Given the description of an element on the screen output the (x, y) to click on. 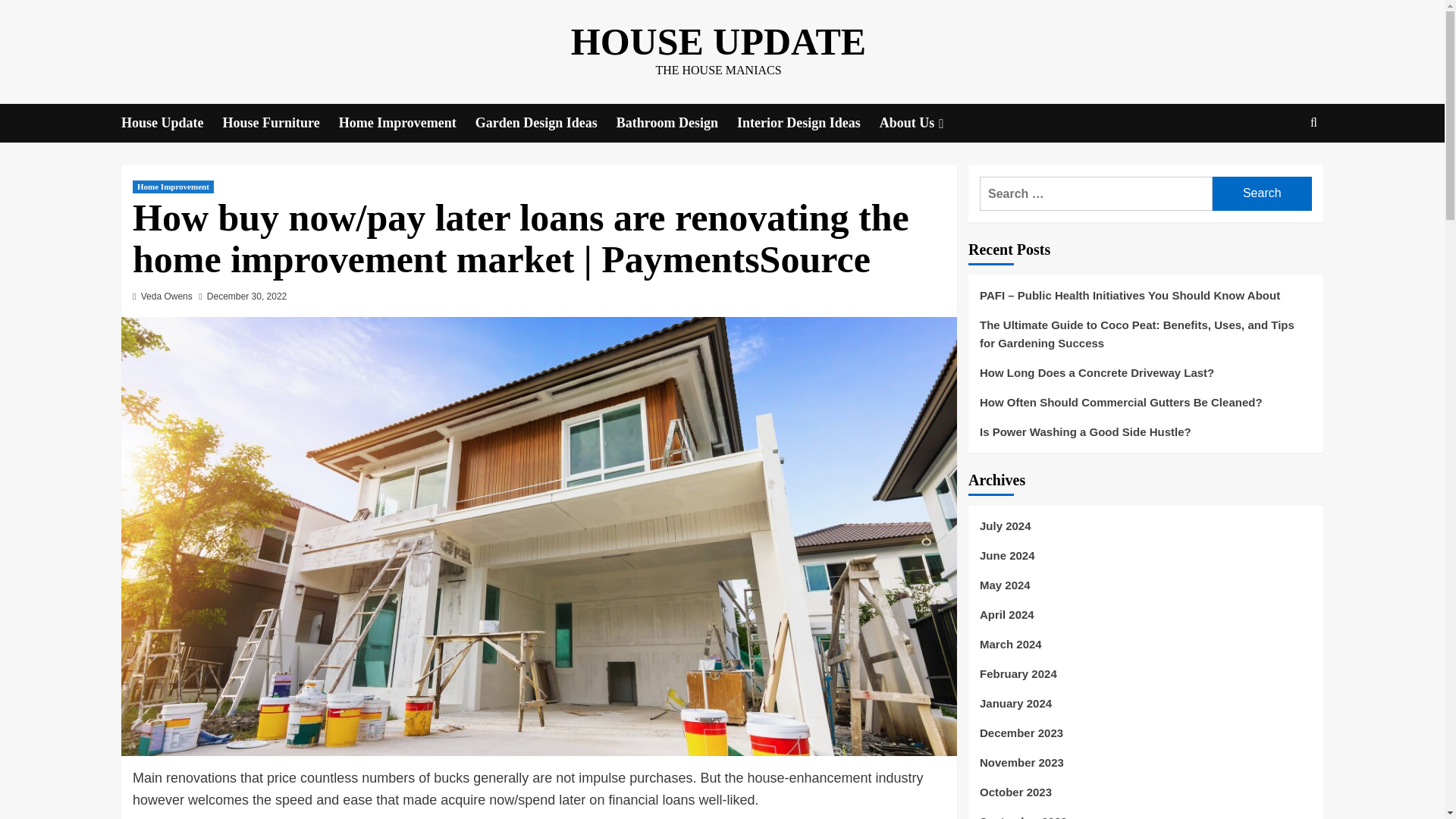
House Furniture (280, 123)
Interior Design Ideas (807, 123)
Home Improvement (407, 123)
Search (1261, 193)
HOUSE UPDATE (718, 41)
Veda Owens (166, 296)
Search (1261, 193)
Home Improvement (173, 186)
House Update (171, 123)
Search (1278, 169)
December 30, 2022 (246, 296)
Garden Design Ideas (545, 123)
Bathroom Design (675, 123)
About Us (923, 123)
